Given the description of an element on the screen output the (x, y) to click on. 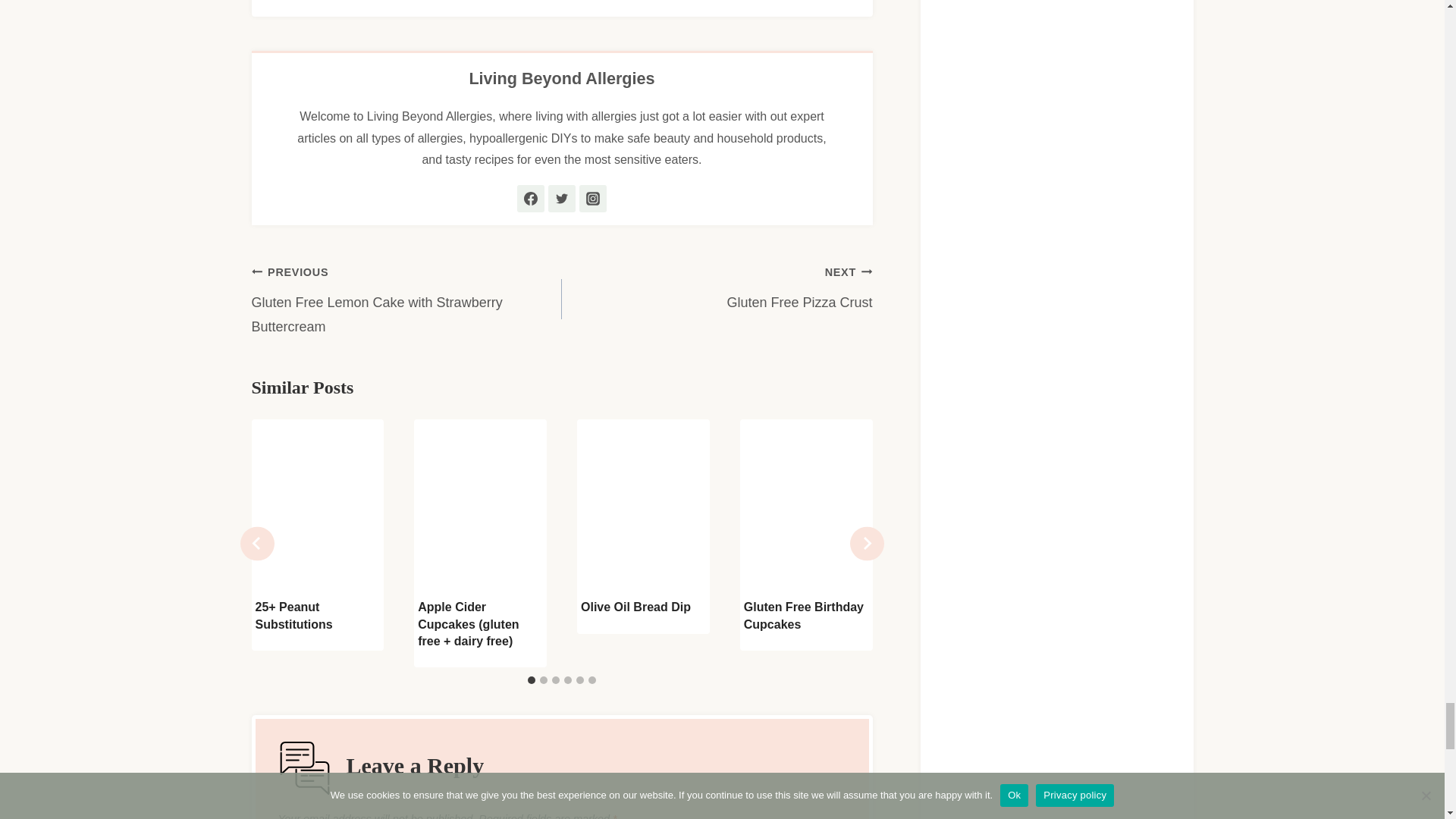
Follow Living Beyond Allergies on Facebook (530, 198)
Follow Living Beyond Allergies on Instagram (593, 198)
Posts by Living Beyond Allergies (560, 77)
Follow Living Beyond Allergies on Twitter (561, 198)
